Given the description of an element on the screen output the (x, y) to click on. 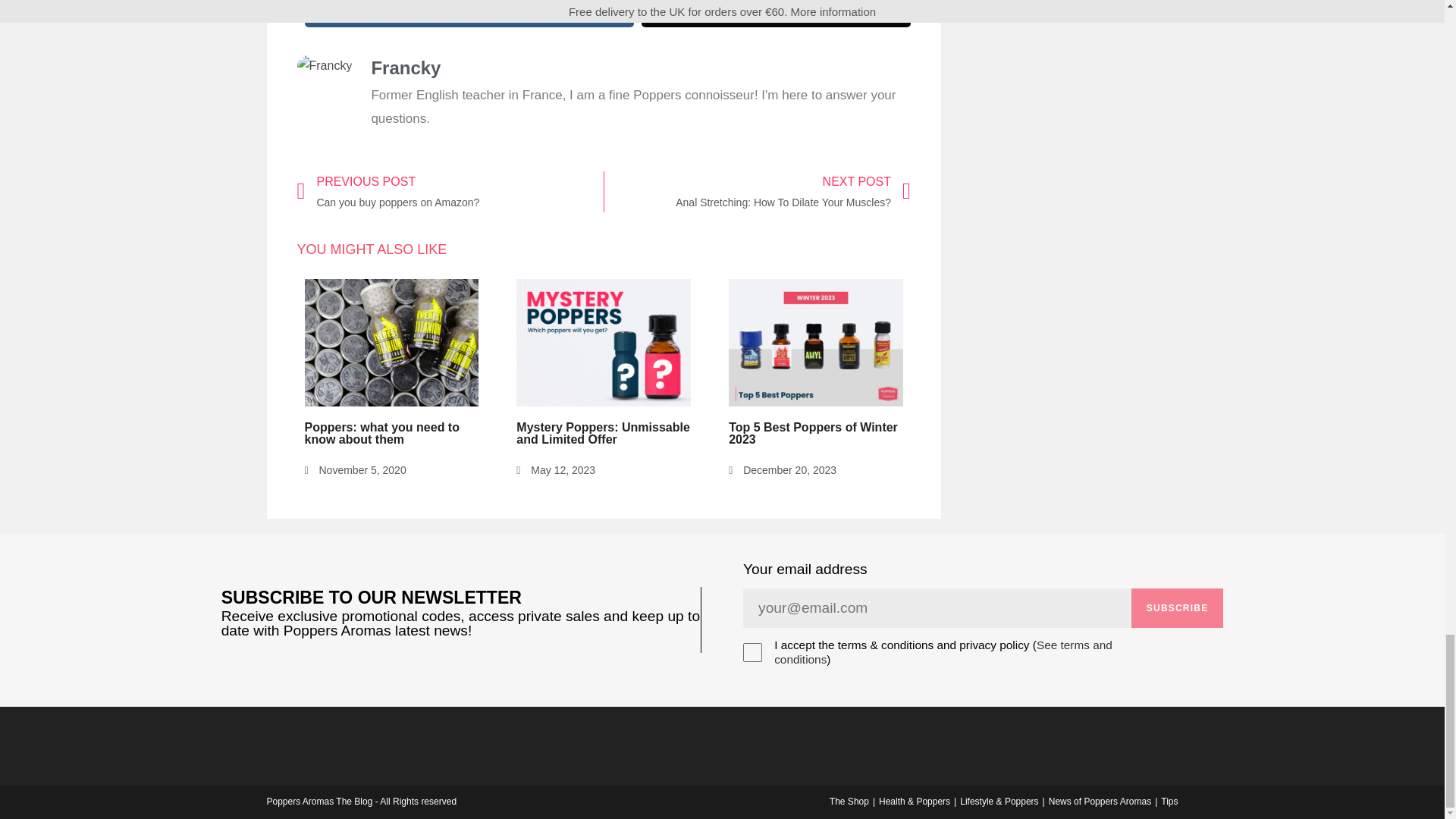
Tweet (776, 14)
Mystery Poppers: Unmissable and Limited Offer (603, 432)
Top 5 Best Poppers of Winter 2023 (813, 432)
Share on Facebook (450, 191)
on (469, 14)
